Given the description of an element on the screen output the (x, y) to click on. 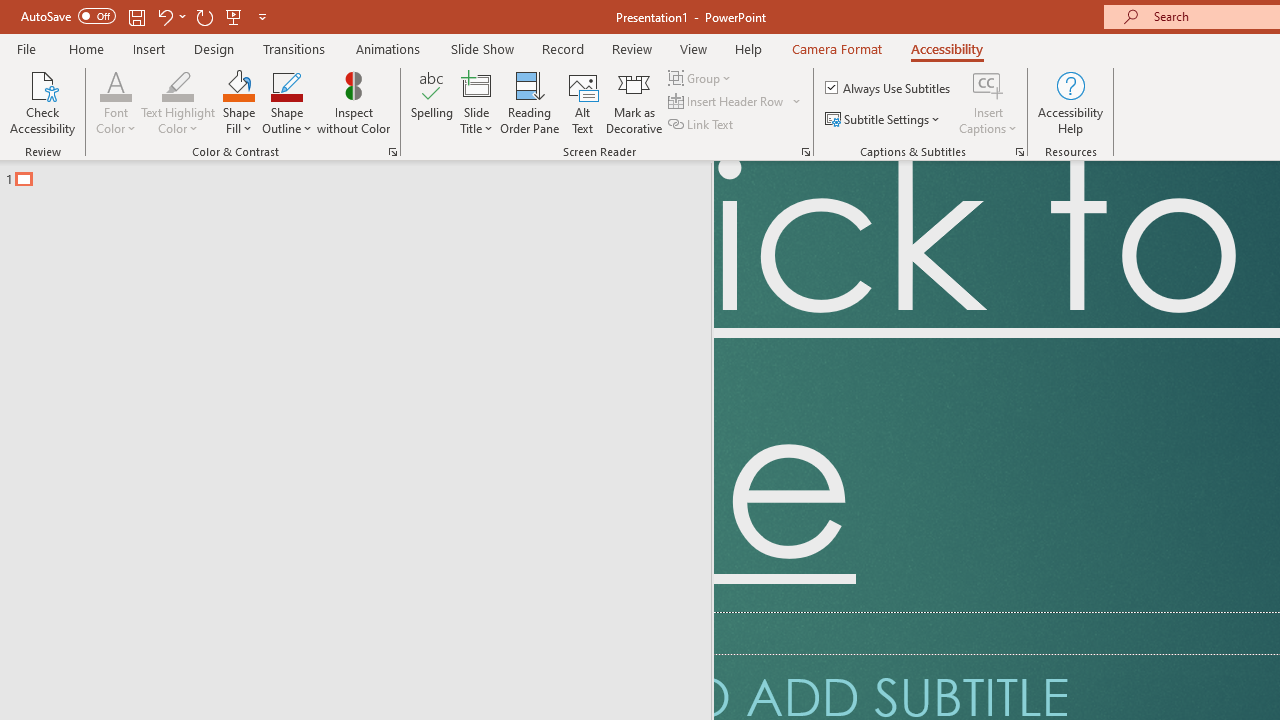
Screen Reader (805, 151)
